Given the description of an element on the screen output the (x, y) to click on. 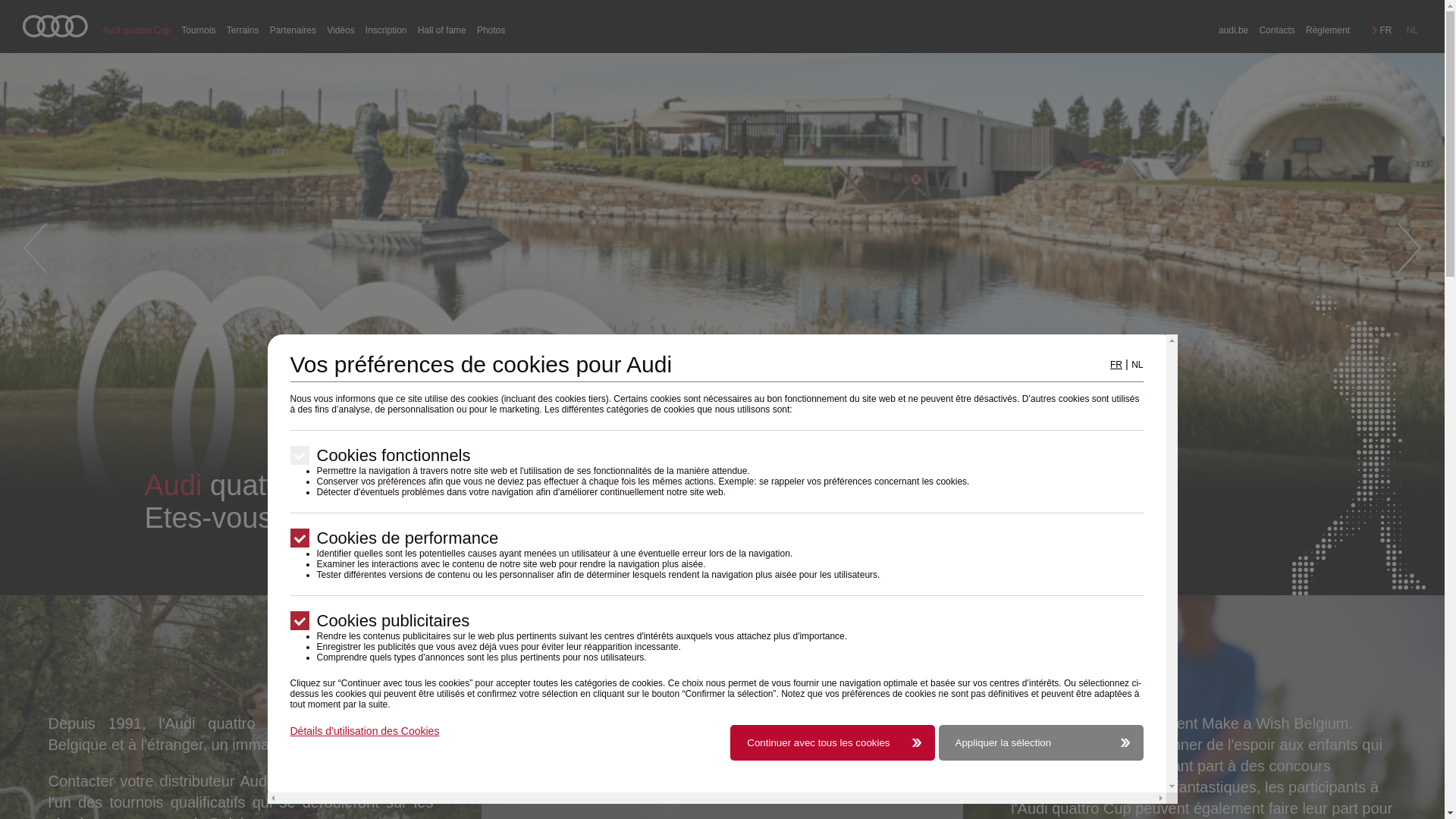
FR Element type: text (1116, 364)
Terrains Element type: text (242, 30)
Audi quattro Cup Element type: text (136, 30)
Audi quattro Cup Element type: text (54, 26)
Hall of fame Element type: text (442, 30)
Partenaires Element type: text (293, 30)
Continuer avec tous les cookies Element type: text (832, 742)
Tournois Element type: text (198, 30)
NL Element type: text (1410, 30)
FR Element type: text (1383, 30)
audi.be Element type: text (1233, 30)
Photos Element type: text (490, 30)
Contacts Element type: text (1276, 30)
NL Element type: text (1136, 364)
Inscription Element type: text (386, 30)
